Given the description of an element on the screen output the (x, y) to click on. 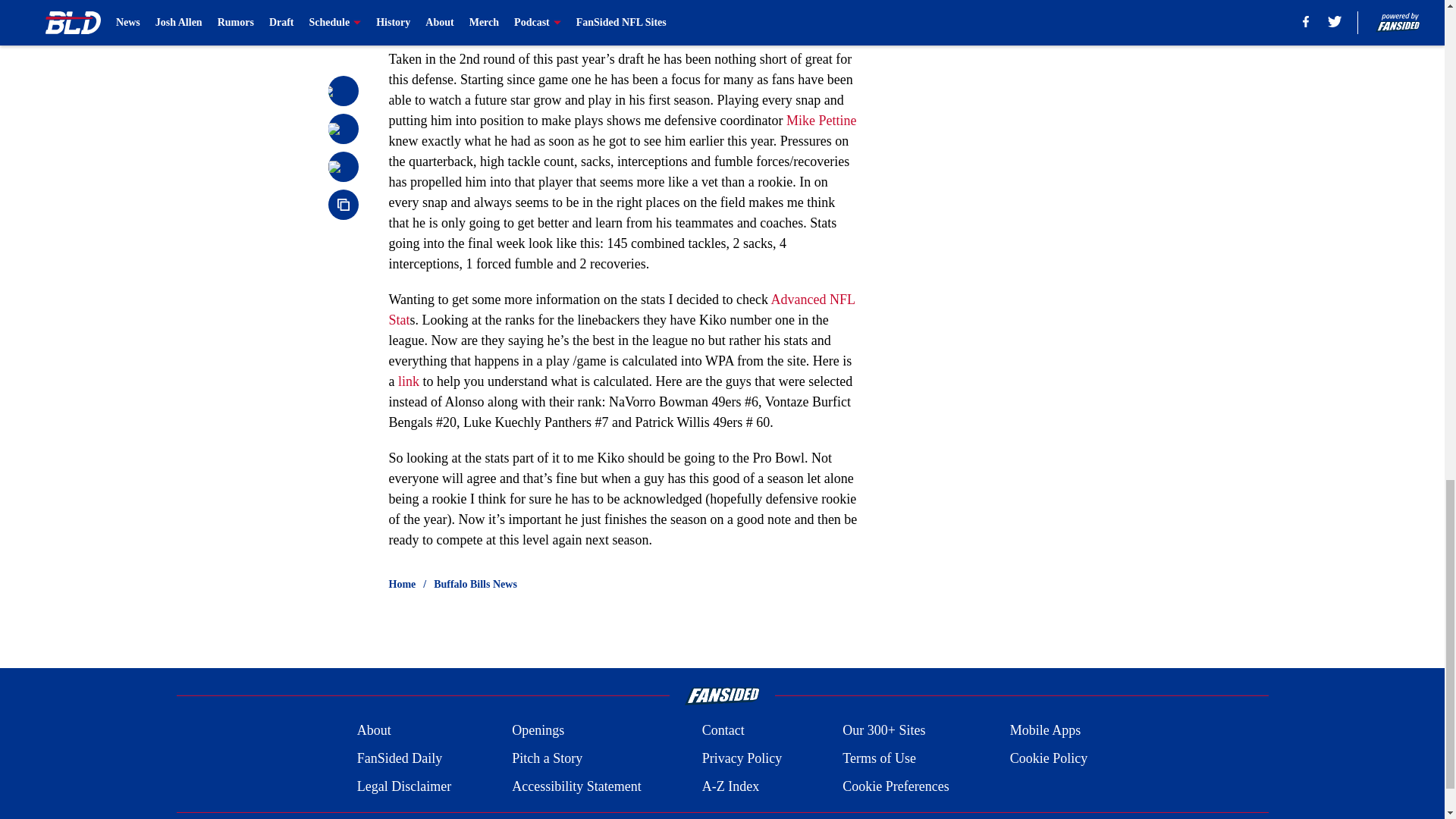
Mike Pettine (821, 120)
Openings (538, 730)
Accessibility Statement (576, 786)
Pitch a Story (547, 758)
Terms of Use (879, 758)
Advanced NFL Stat (621, 309)
Mobile Apps (1045, 730)
Kiko Alonso (492, 23)
FanSided Daily (399, 758)
Cookie Policy (1048, 758)
